Given the description of an element on the screen output the (x, y) to click on. 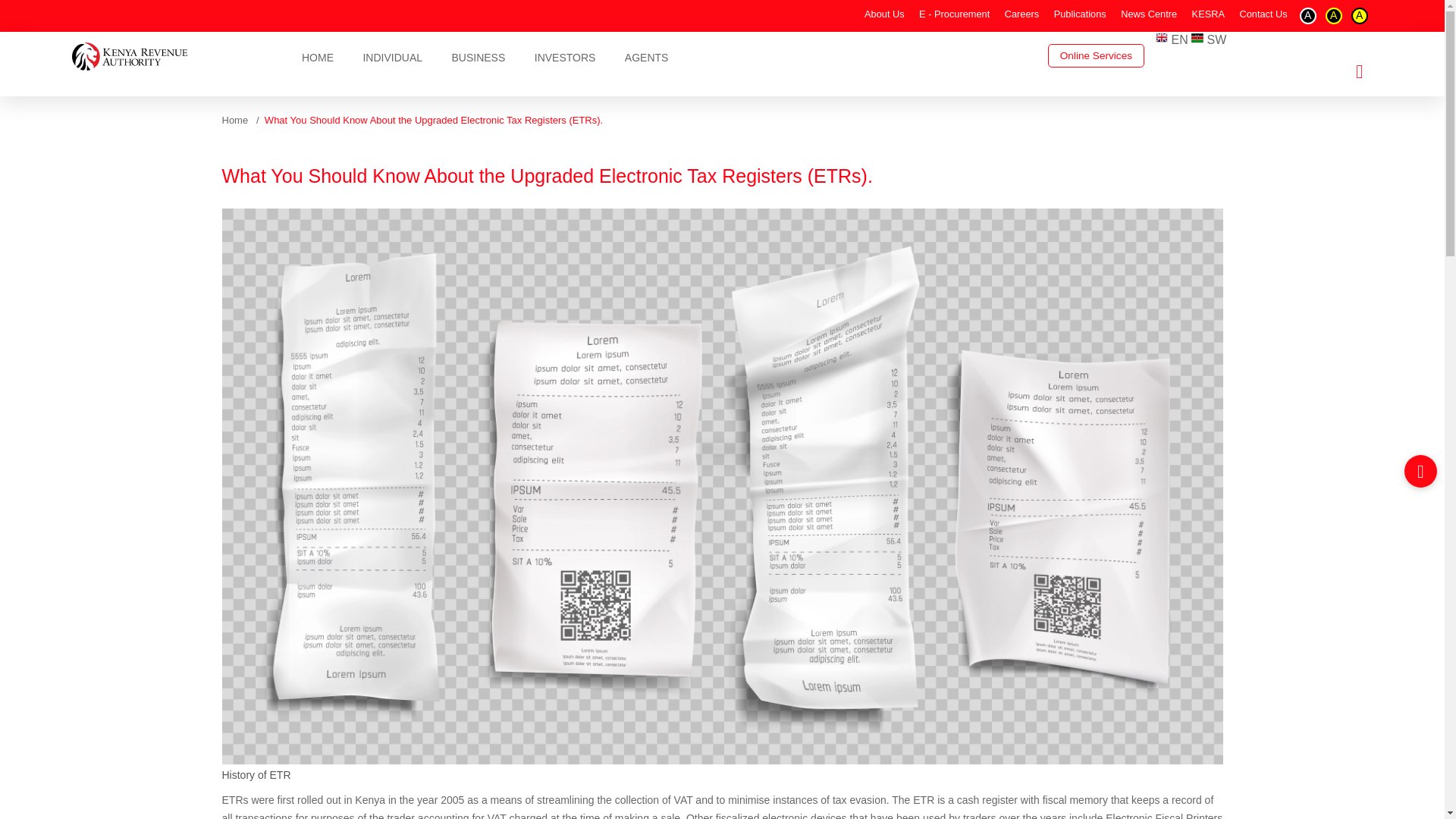
Swahili (1208, 39)
English (1172, 39)
